Given the description of an element on the screen output the (x, y) to click on. 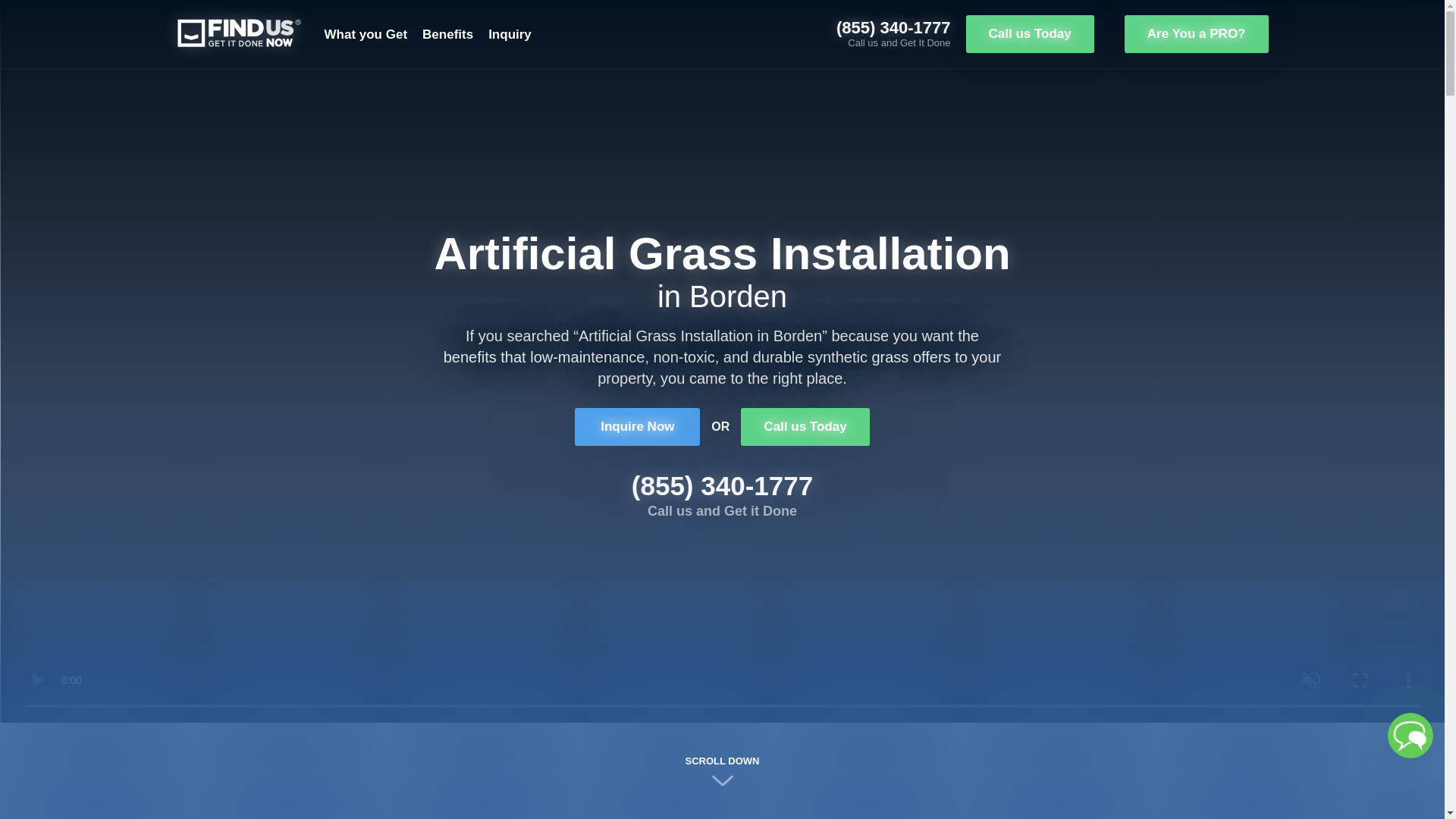
Call our specialists today (1030, 34)
Why choose Find Us Now (722, 771)
Call our specialists today (805, 426)
Learn more about the benefits of working with us (447, 34)
Are You a PRO? (1196, 34)
SCROLL DOWN (722, 771)
Contact us now (509, 34)
Benefits (447, 34)
Find Us Now logo (238, 32)
Call our specialists today (637, 426)
What you Get (365, 34)
Inquire Now (637, 426)
Call us Today (1030, 34)
Call us Today (805, 426)
Inquiry (509, 34)
